Given the description of an element on the screen output the (x, y) to click on. 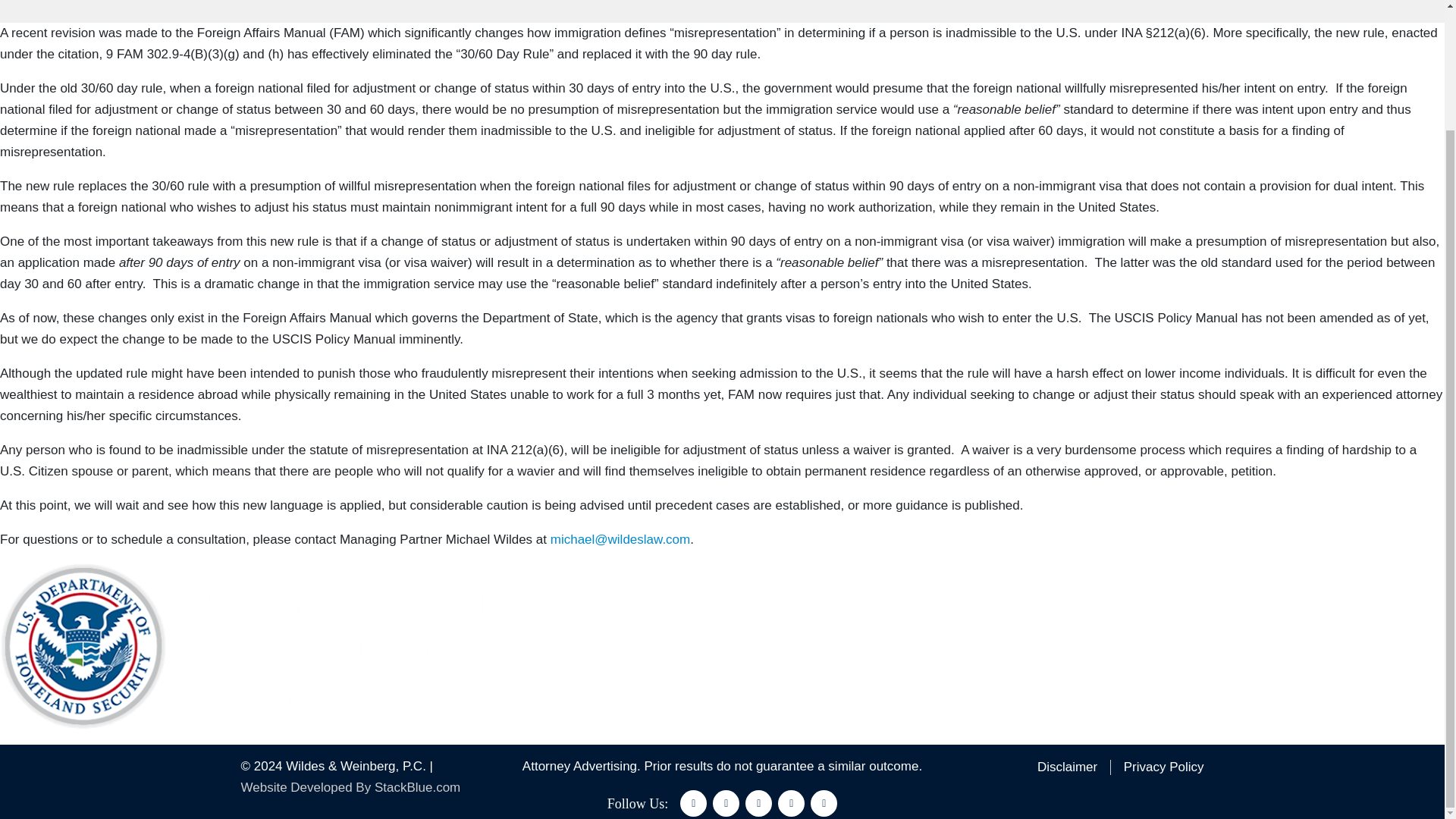
facebook (692, 803)
linkedin (758, 803)
instagram (791, 803)
youtube (823, 803)
twitter (726, 803)
